Given the description of an element on the screen output the (x, y) to click on. 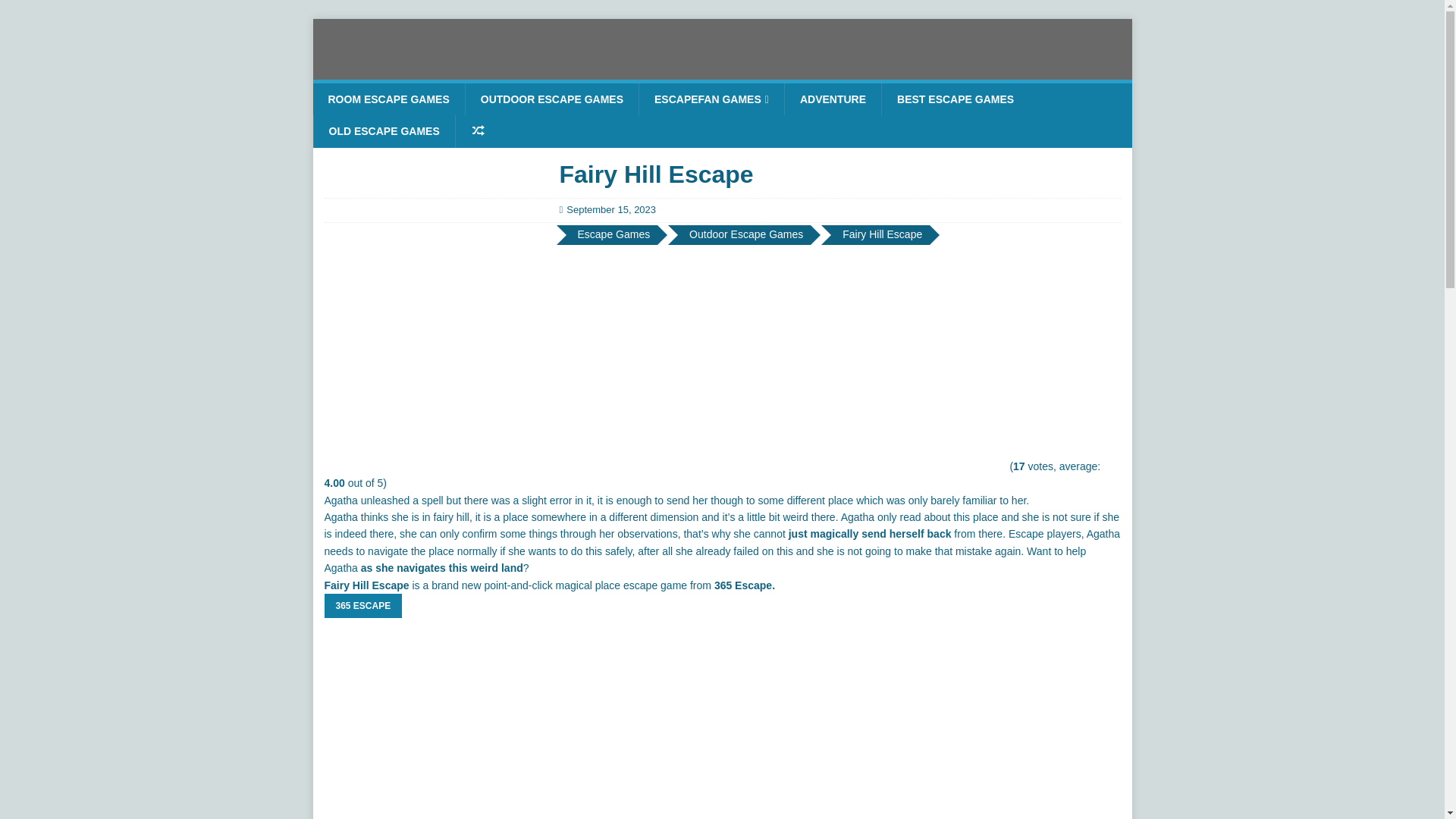
OUTDOOR ESCAPE GAMES (551, 99)
Escape Games (614, 234)
ROOM ESCAPE GAMES (388, 99)
Fairy Hill Escape (882, 234)
Outdoor Escape Games (745, 234)
just magically send herself back (870, 533)
Escape Games (614, 234)
Random Escape Game (477, 131)
Fairy Hill Escape (882, 234)
September 15, 2023 (611, 209)
